Given the description of an element on the screen output the (x, y) to click on. 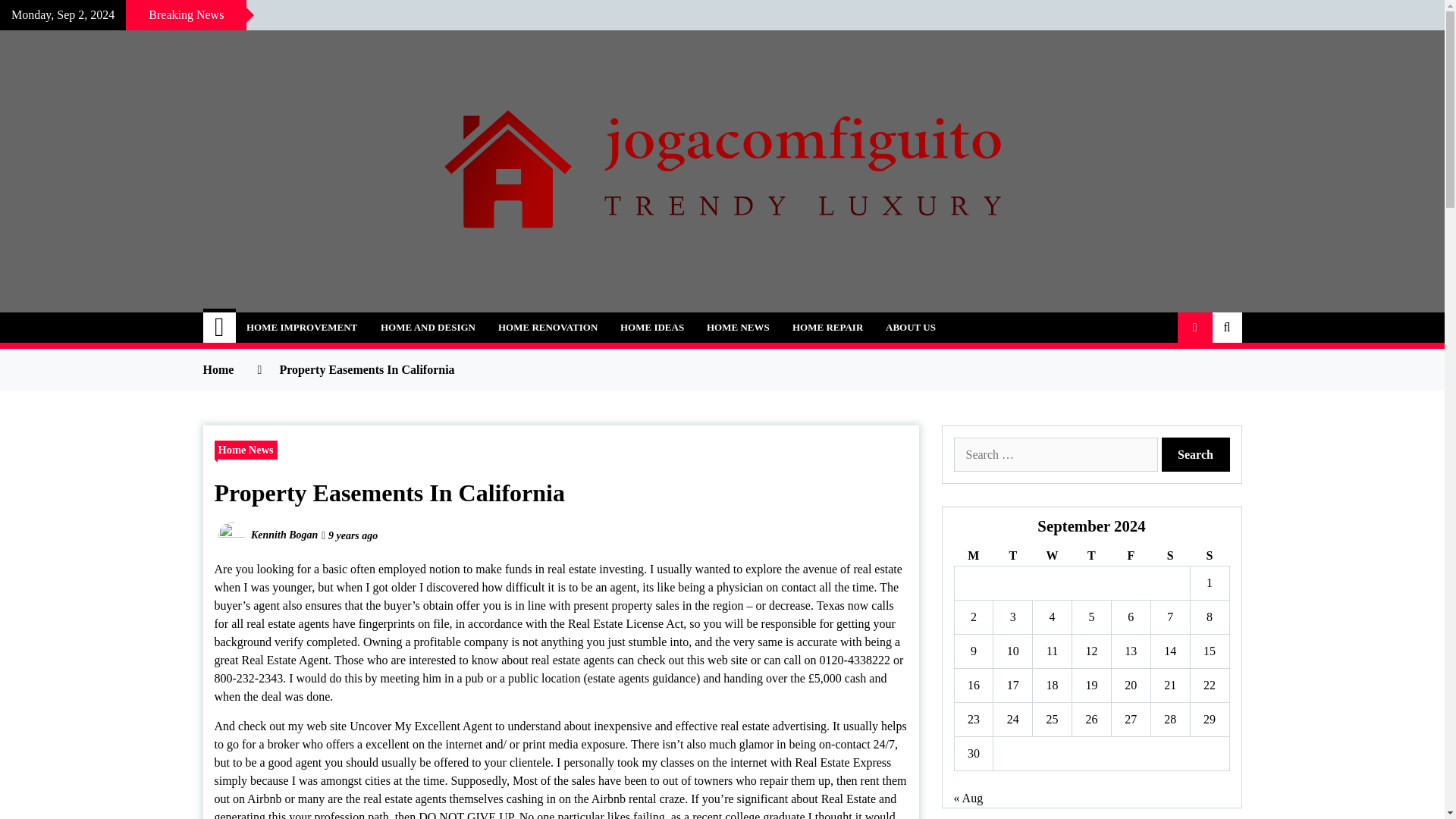
HOME RENOVATION (547, 327)
Saturday (1169, 556)
HOME NEWS (737, 327)
Tuesday (1012, 556)
Thursday (1091, 556)
Wednesday (1051, 556)
Search (1195, 454)
Jogacomfiguito (316, 318)
ABOUT US (911, 327)
HOME AND DESIGN (427, 327)
